Given the description of an element on the screen output the (x, y) to click on. 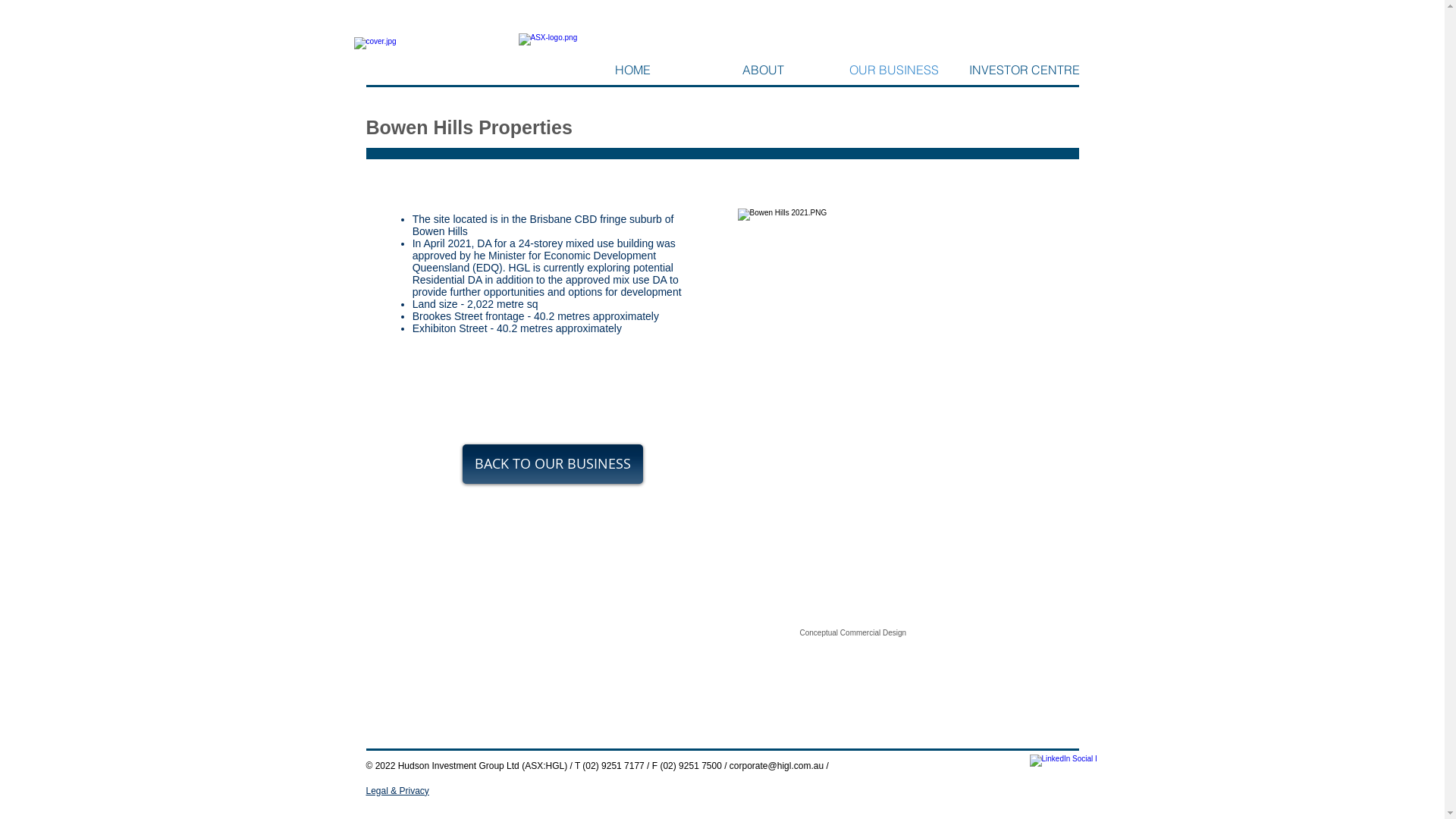
ABOUT Element type: text (762, 69)
corporate@higl.com.au Element type: text (776, 764)
Legal & Privacy Element type: text (396, 790)
OUR BUSINESS Element type: text (893, 69)
BACK TO OUR BUSINESS Element type: text (552, 463)
HOME Element type: text (632, 69)
INVESTOR CENTRE Element type: text (1023, 69)
